Given the description of an element on the screen output the (x, y) to click on. 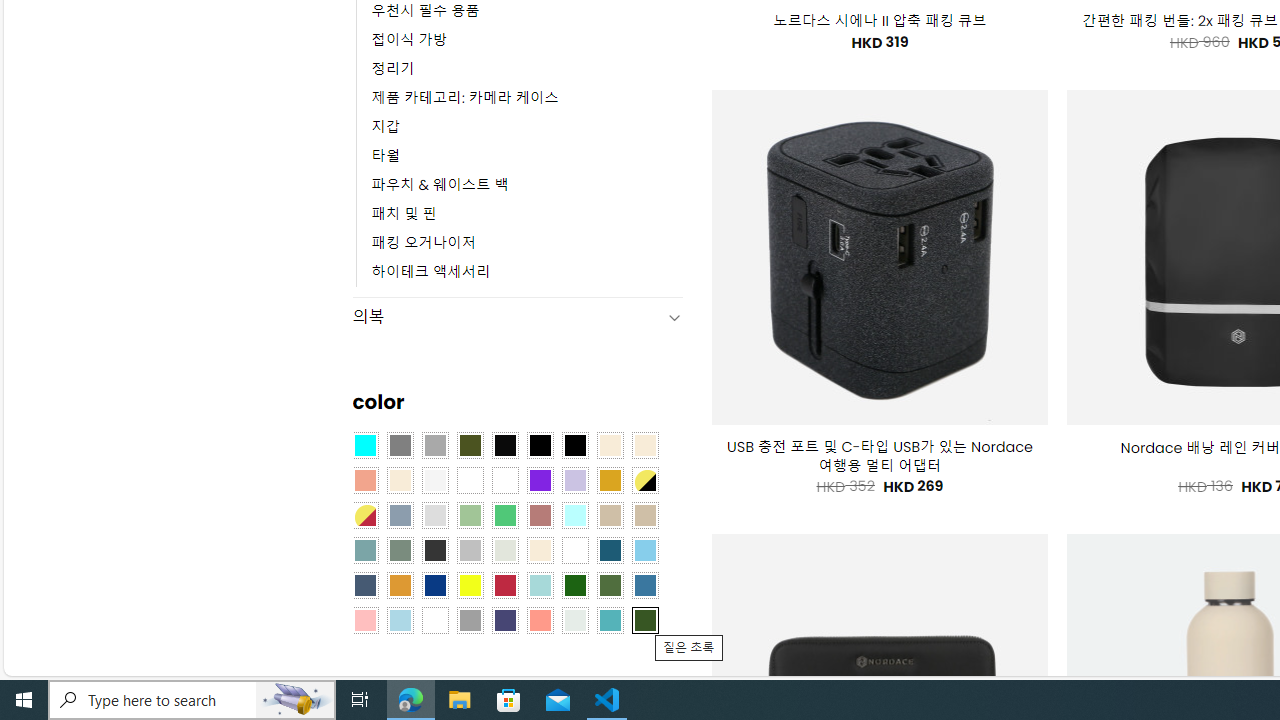
Dull Nickle (574, 619)
